Given the description of an element on the screen output the (x, y) to click on. 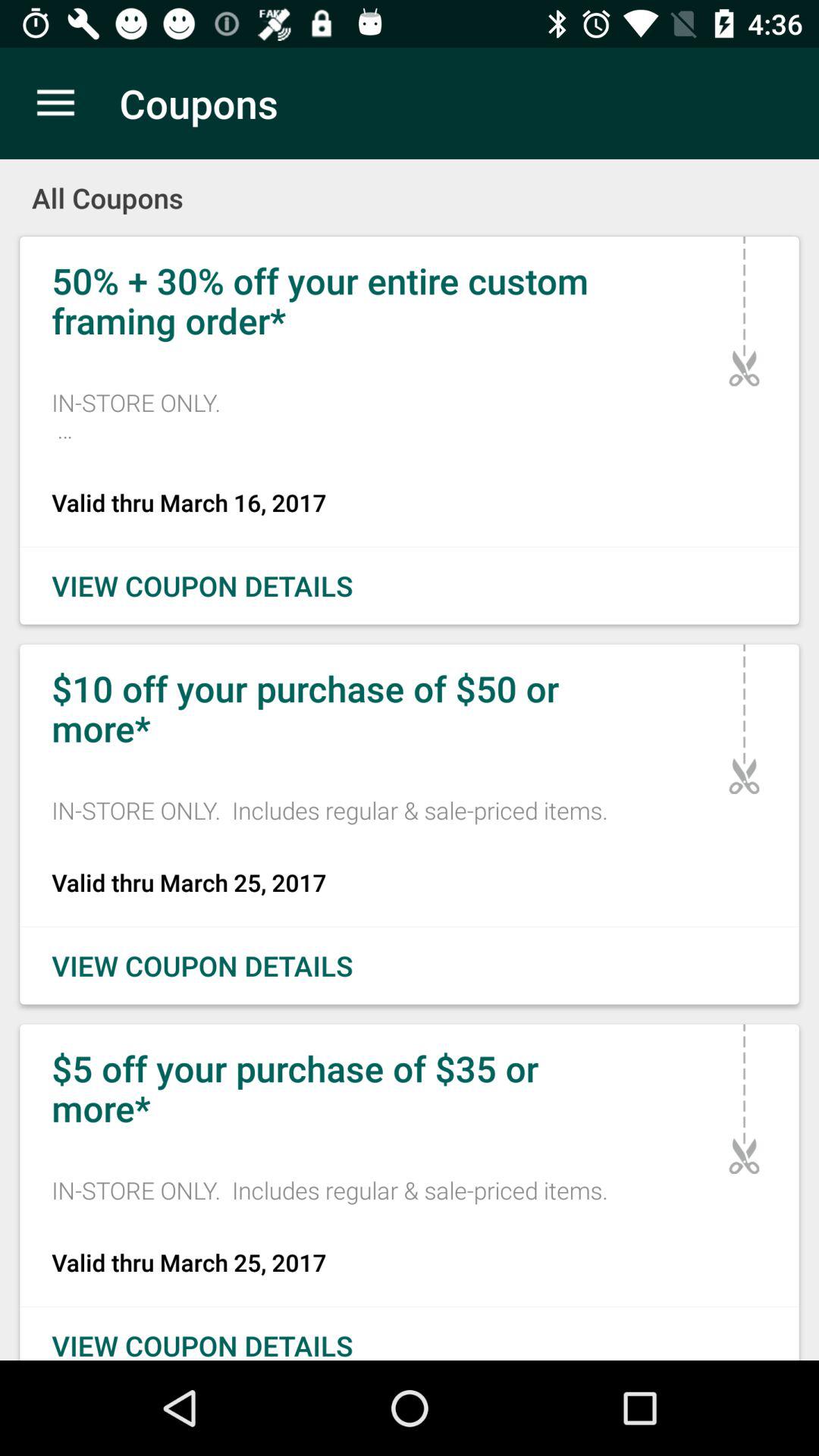
click icon to the left of coupons (55, 103)
